Given the description of an element on the screen output the (x, y) to click on. 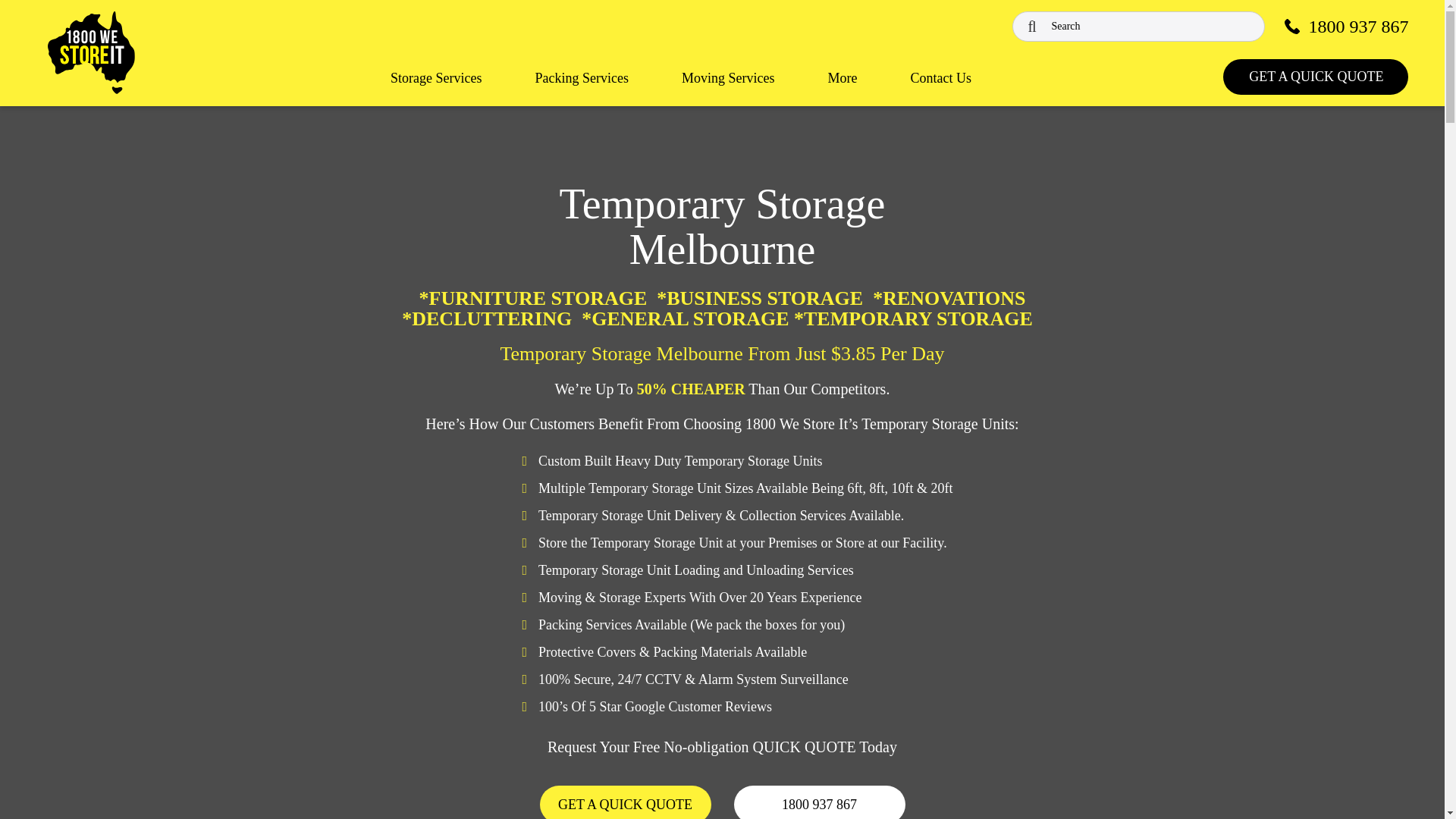
Storage Services (435, 90)
Moving Services (727, 90)
1800 937 867 (1345, 26)
Packing Services (581, 90)
